Given the description of an element on the screen output the (x, y) to click on. 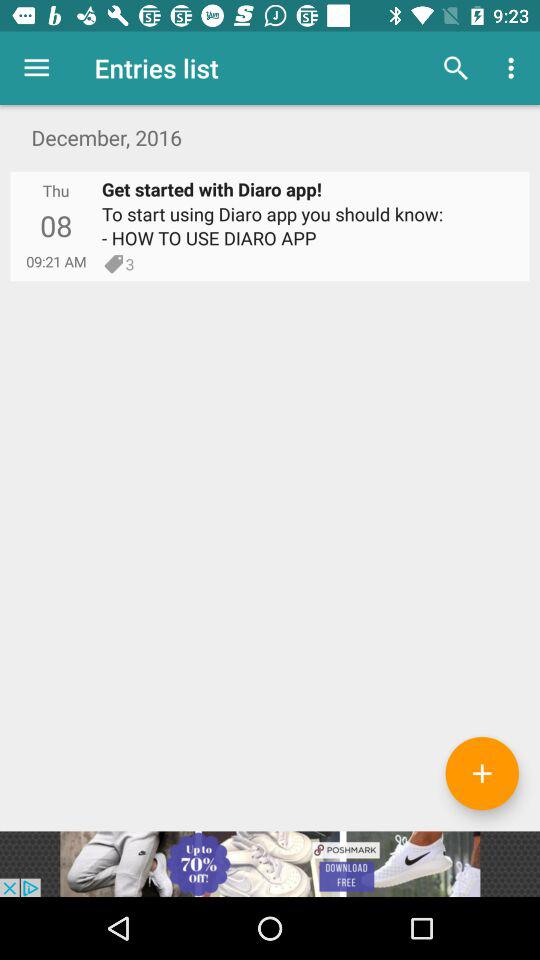
add more button (482, 773)
